Given the description of an element on the screen output the (x, y) to click on. 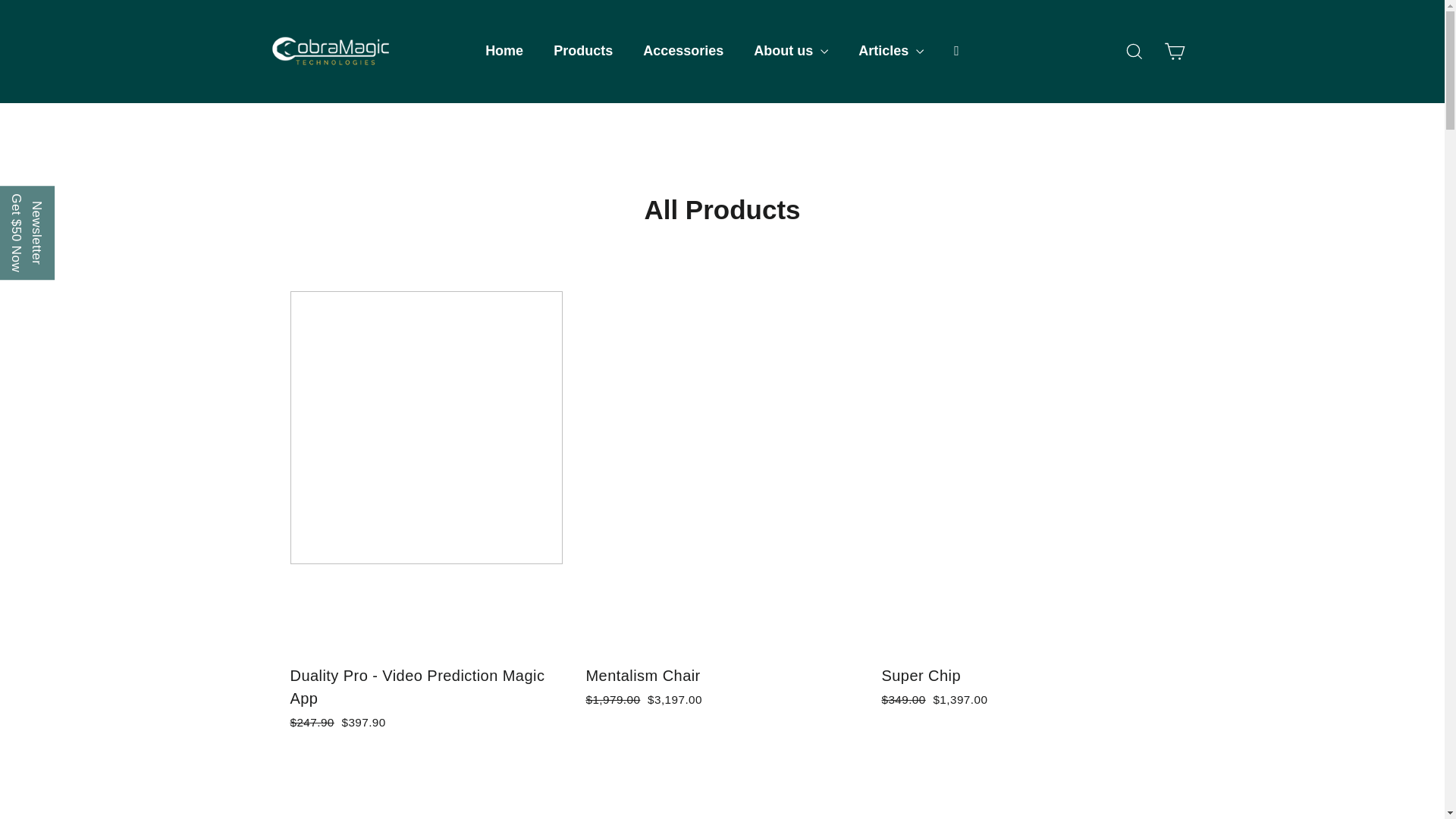
Accessories (682, 51)
Products (582, 51)
Articles (891, 51)
Home (504, 51)
About us (790, 51)
